Given the description of an element on the screen output the (x, y) to click on. 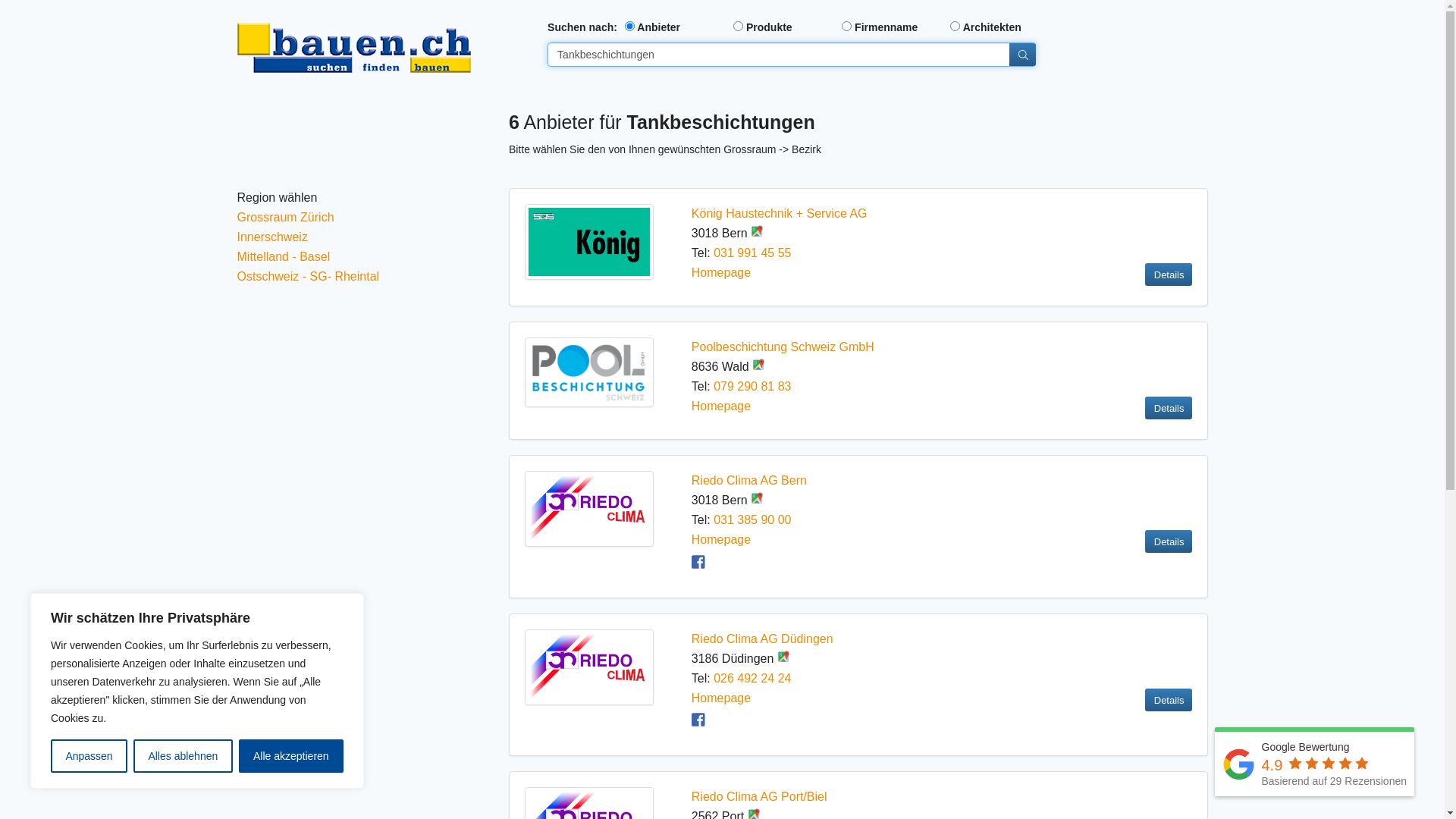
079 290 81 83 Element type: text (751, 385)
Homepage Element type: text (720, 272)
Homepage Element type: text (720, 697)
Anpassen Element type: text (88, 755)
Zur Hauptnavigation springen Element type: text (0, 0)
Homepage Element type: text (720, 405)
Details Element type: text (1168, 699)
Homepage Element type: text (720, 539)
031 385 90 00 Element type: text (751, 519)
Alles ablehnen Element type: text (182, 755)
026 492 24 24 Element type: text (751, 677)
Details Element type: text (1168, 407)
Details Element type: text (1168, 274)
031 991 45 55 Element type: text (751, 252)
Alle akzeptieren Element type: text (290, 755)
Riedo Clima AG Bern Element type: text (748, 479)
Details Element type: text (1168, 541)
Poolbeschichtung Schweiz GmbH Element type: text (782, 346)
Riedo Clima AG Port/Biel Element type: text (759, 796)
